Given the description of an element on the screen output the (x, y) to click on. 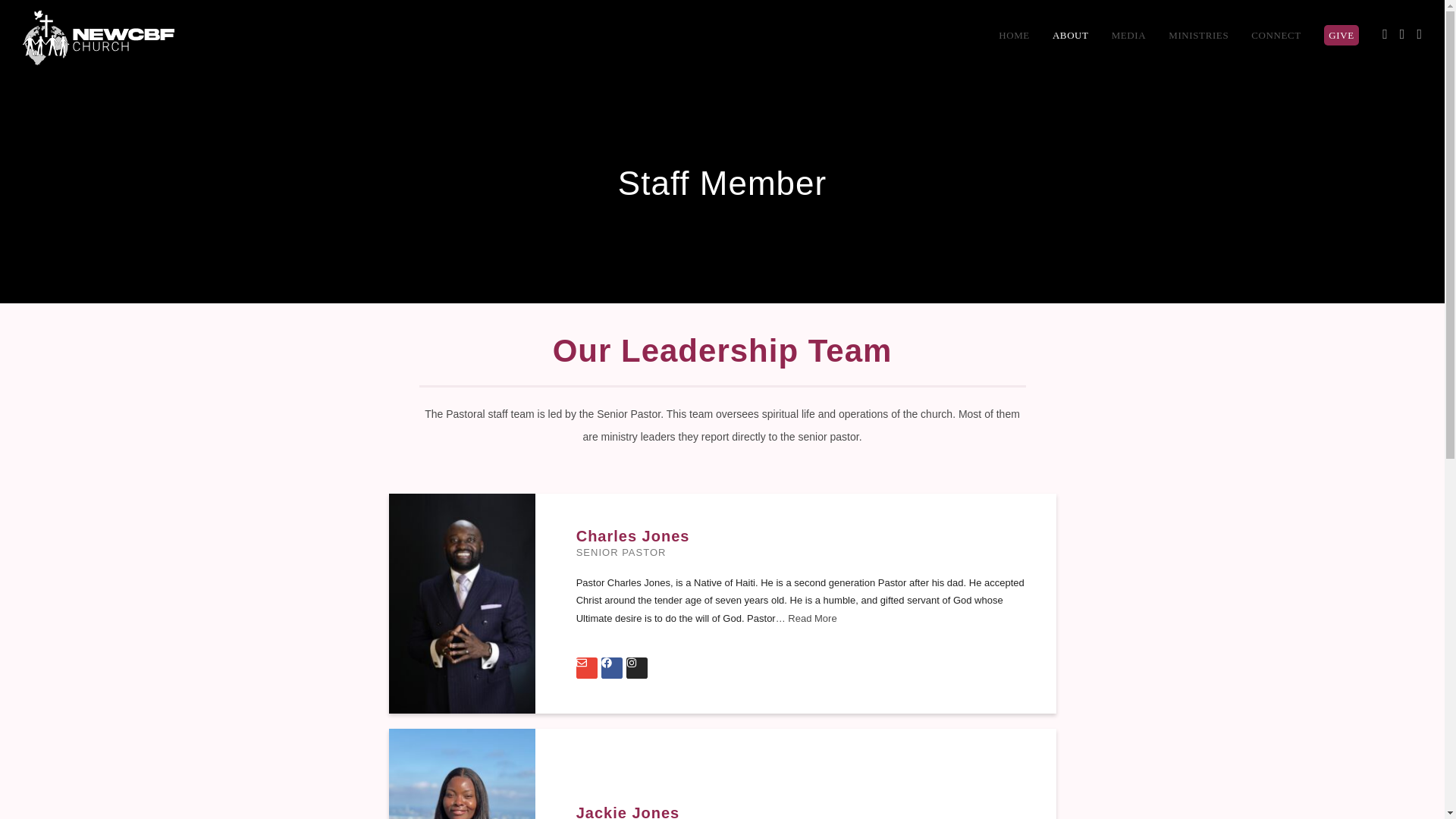
ABOUT (1070, 35)
HOME (1014, 35)
CONNECT (1276, 35)
GIVE (1341, 35)
MEDIA (1128, 35)
MINISTRIES (1198, 35)
